Given the description of an element on the screen output the (x, y) to click on. 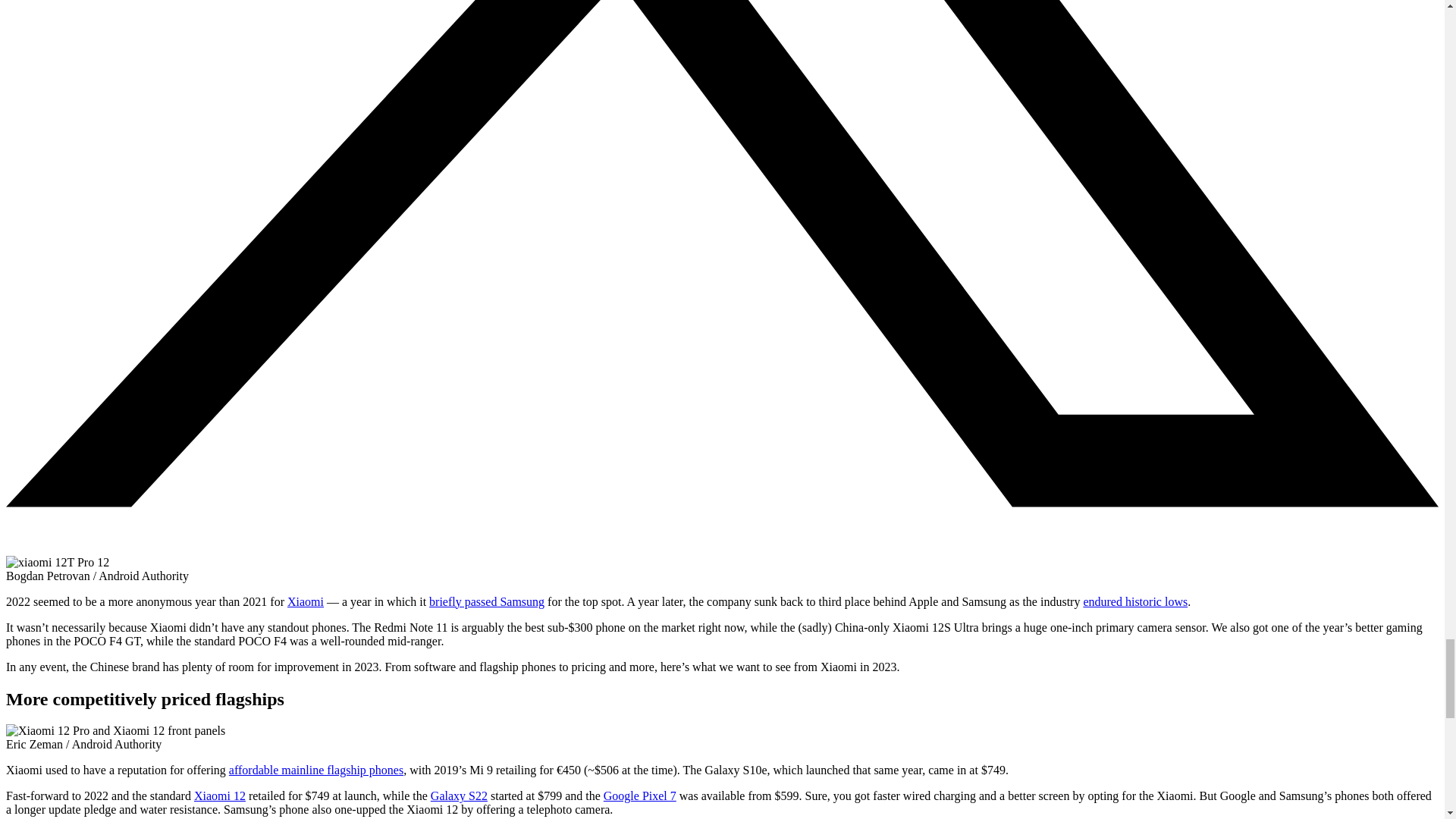
endured historic lows (1135, 601)
Xiaomi 12 (219, 795)
affordable mainline flagship phones (315, 769)
xiaomi 12T Pro 12 (57, 562)
Xiaomi 12 Pro and Xiaomi 12 front panels (115, 730)
Xiaomi (304, 601)
Galaxy S22 (458, 795)
briefly passed Samsung (486, 601)
Google Pixel 7 (640, 795)
